Given the description of an element on the screen output the (x, y) to click on. 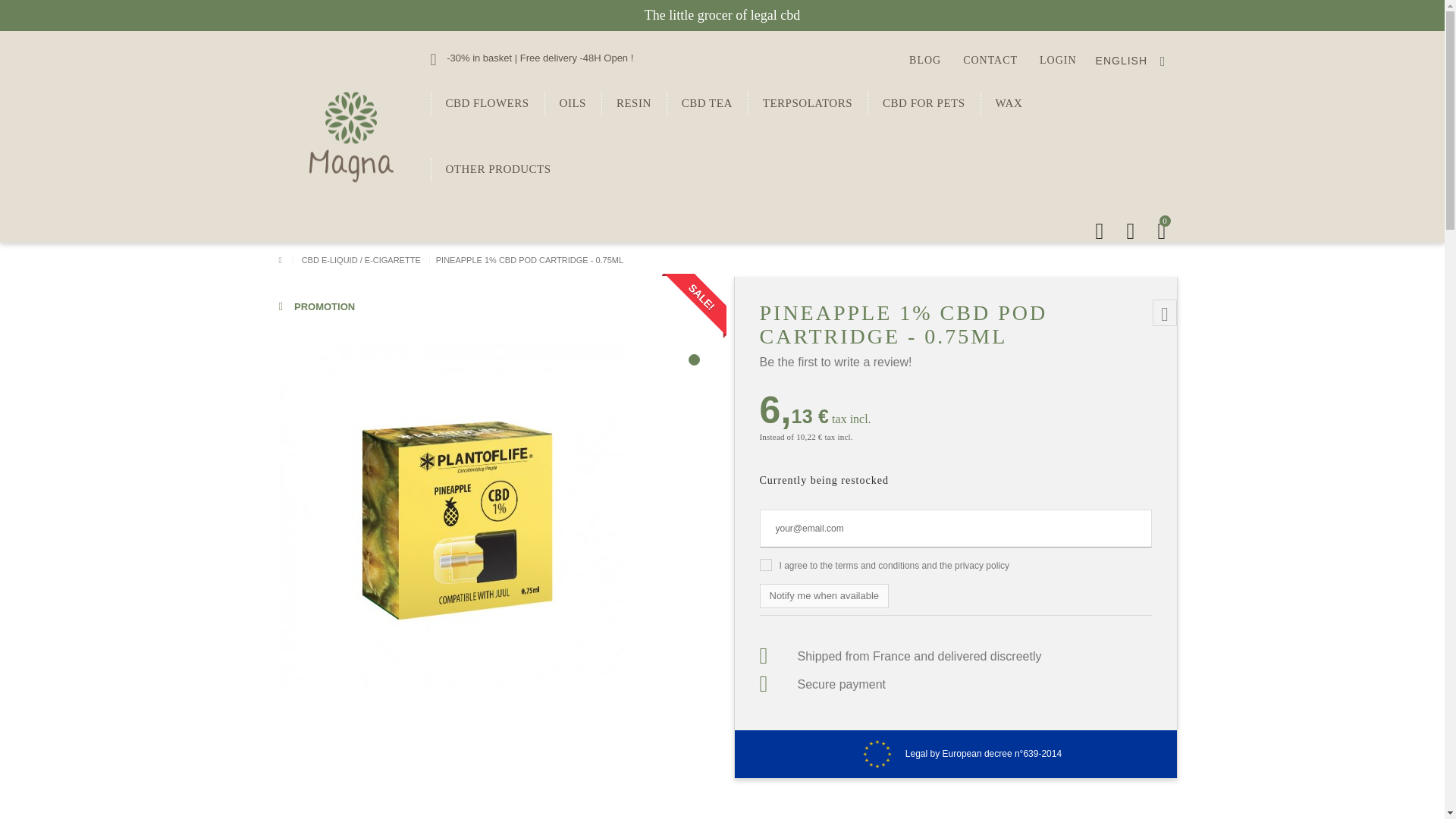
LOGIN (1058, 60)
BLOG (924, 60)
CONTACT (989, 60)
